Given the description of an element on the screen output the (x, y) to click on. 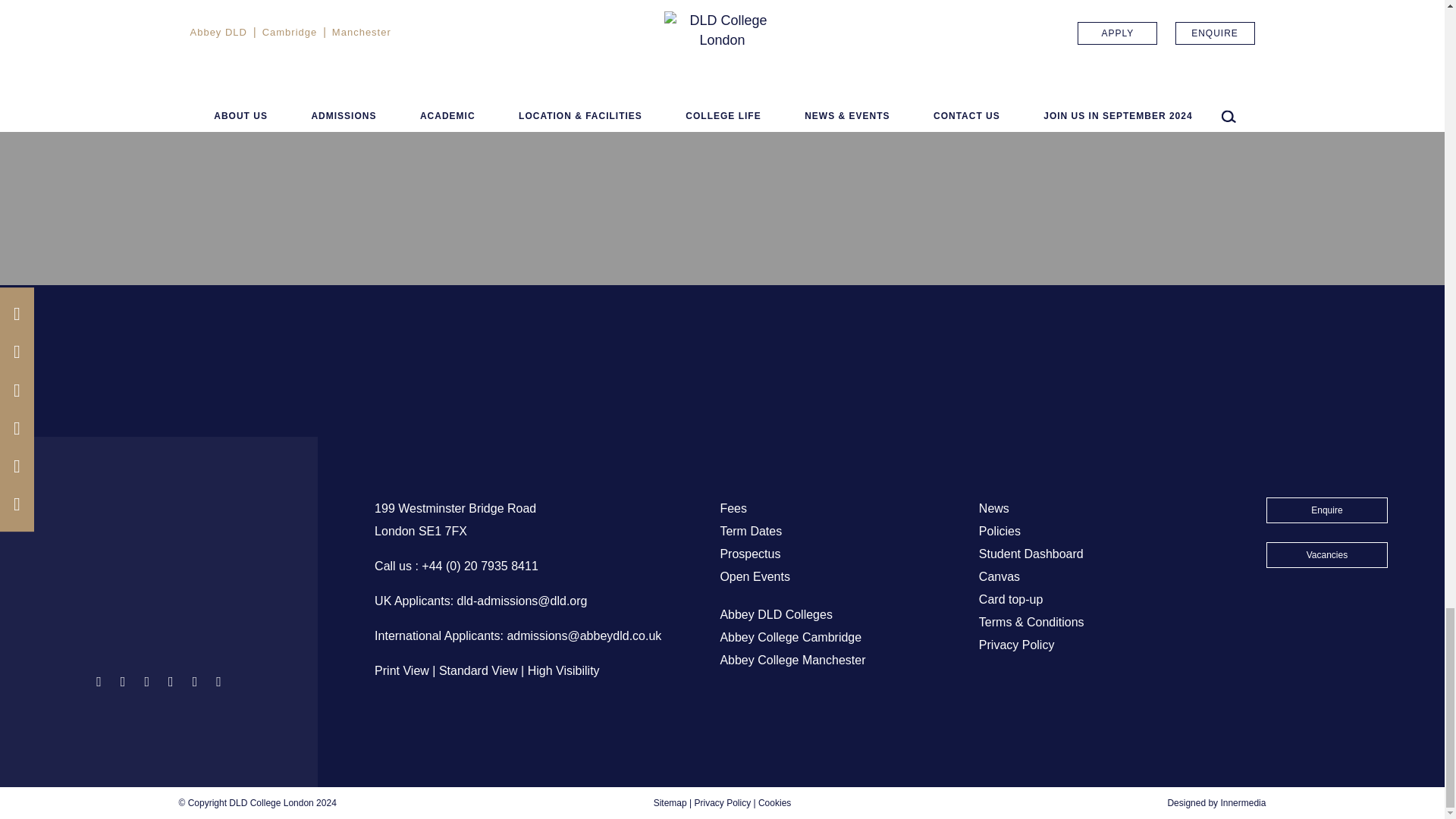
Switch to Print (401, 670)
Switch to Standard Visibility (478, 670)
Switch to High Visibility (563, 670)
